Given the description of an element on the screen output the (x, y) to click on. 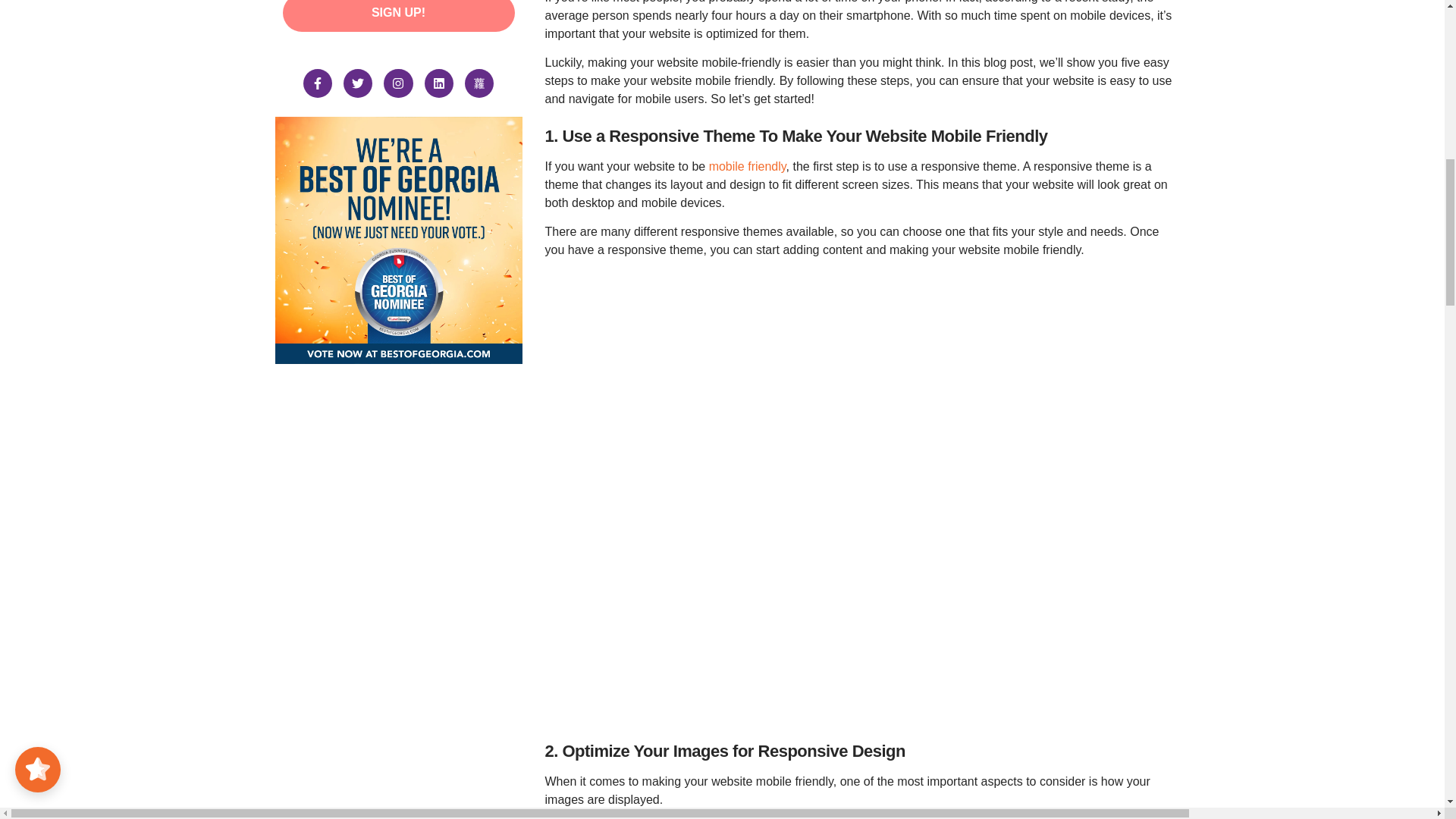
Sign Up! (397, 15)
Sign Up! (397, 15)
